Given the description of an element on the screen output the (x, y) to click on. 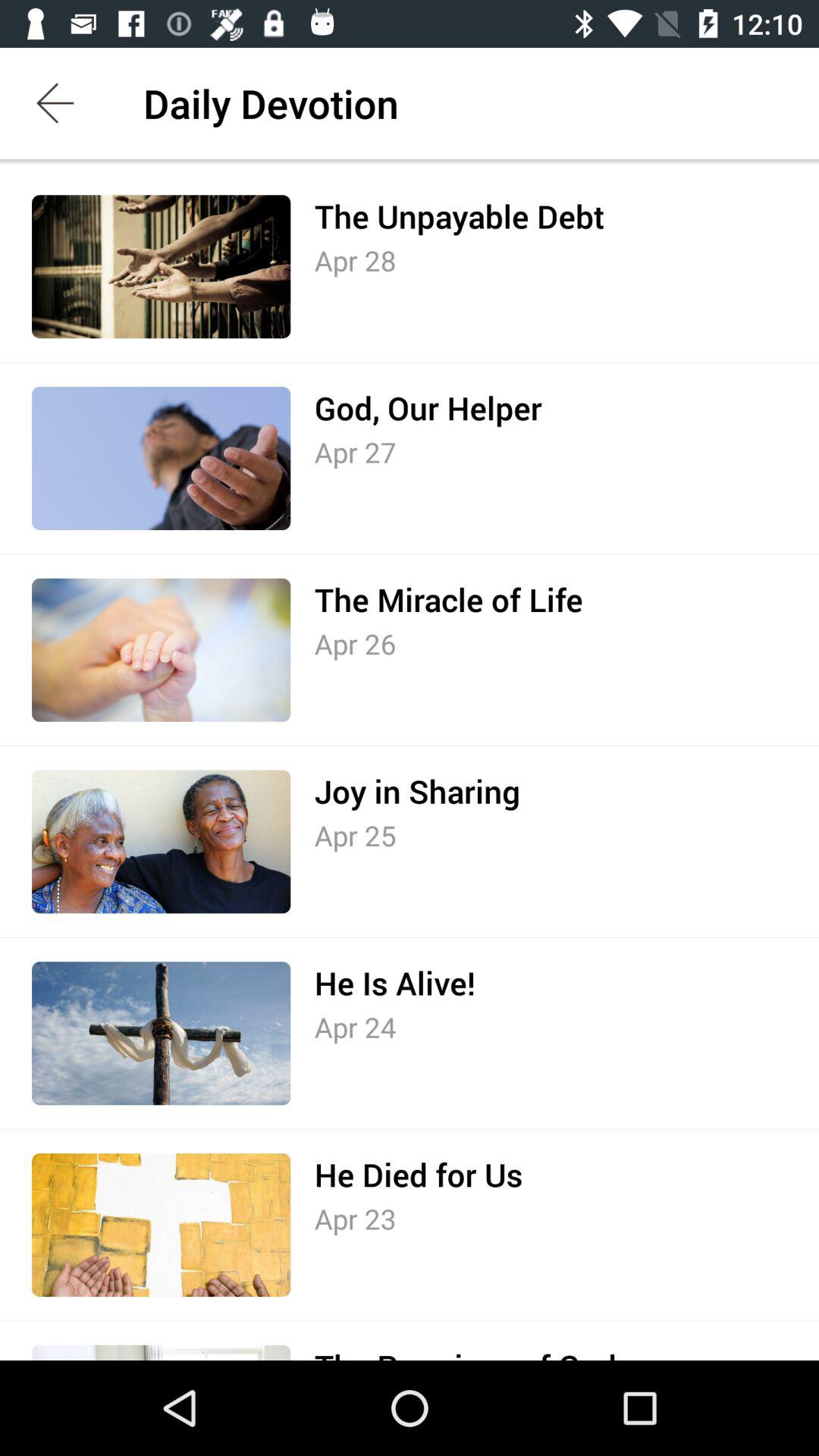
return to previous (55, 103)
